Given the description of an element on the screen output the (x, y) to click on. 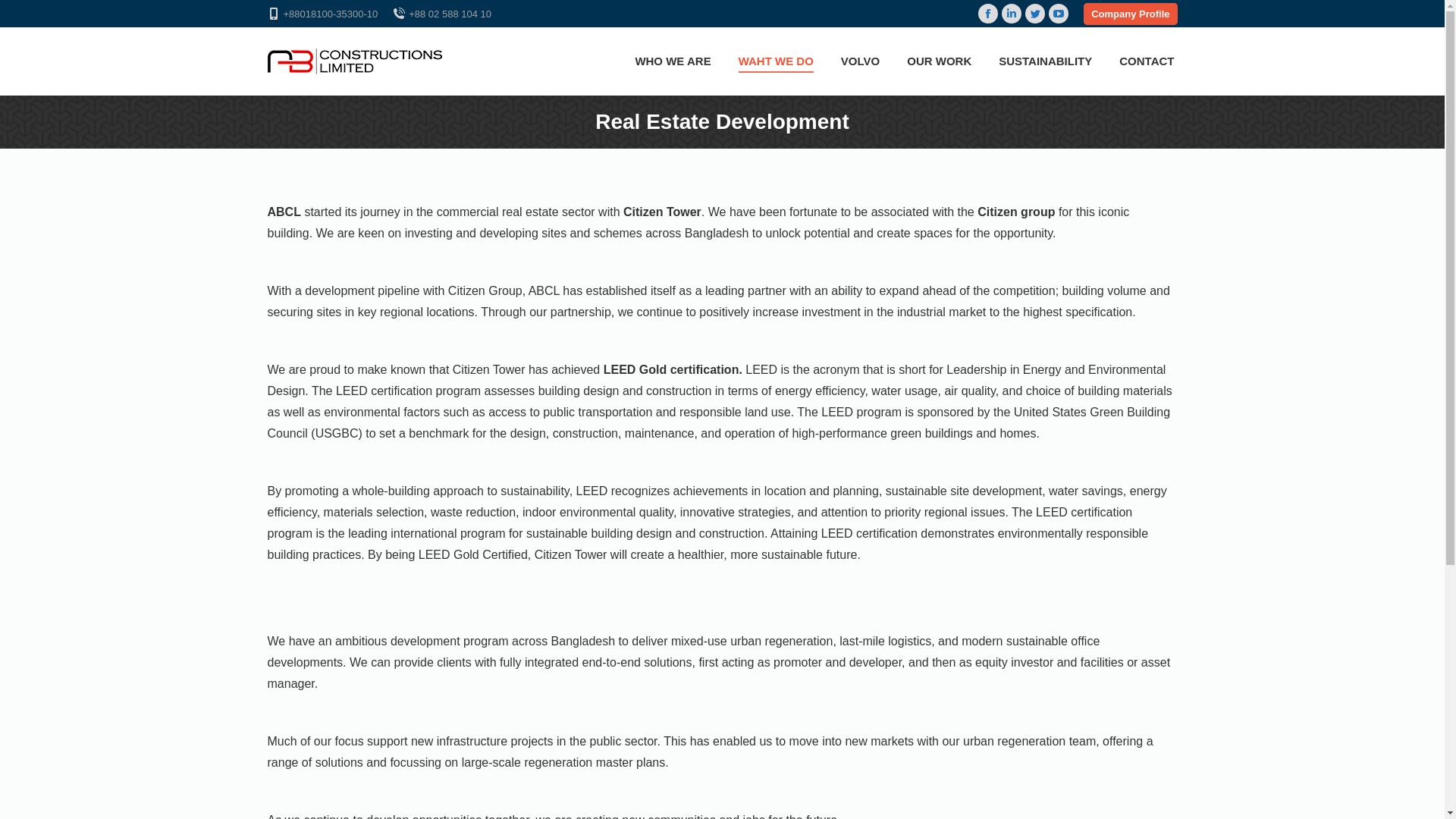
WAHT WE DO Element type: text (775, 60)
VOLVO Element type: text (859, 60)
WHO WE ARE Element type: text (672, 60)
Facebook Element type: text (987, 13)
Twitter Element type: text (1034, 13)
OUR WORK Element type: text (938, 60)
YouTube Element type: text (1058, 13)
SUSTAINABILITY Element type: text (1045, 60)
CONTACT Element type: text (1146, 60)
Company Profile Element type: text (1129, 14)
Linkedin Element type: text (1011, 13)
